Given the description of an element on the screen output the (x, y) to click on. 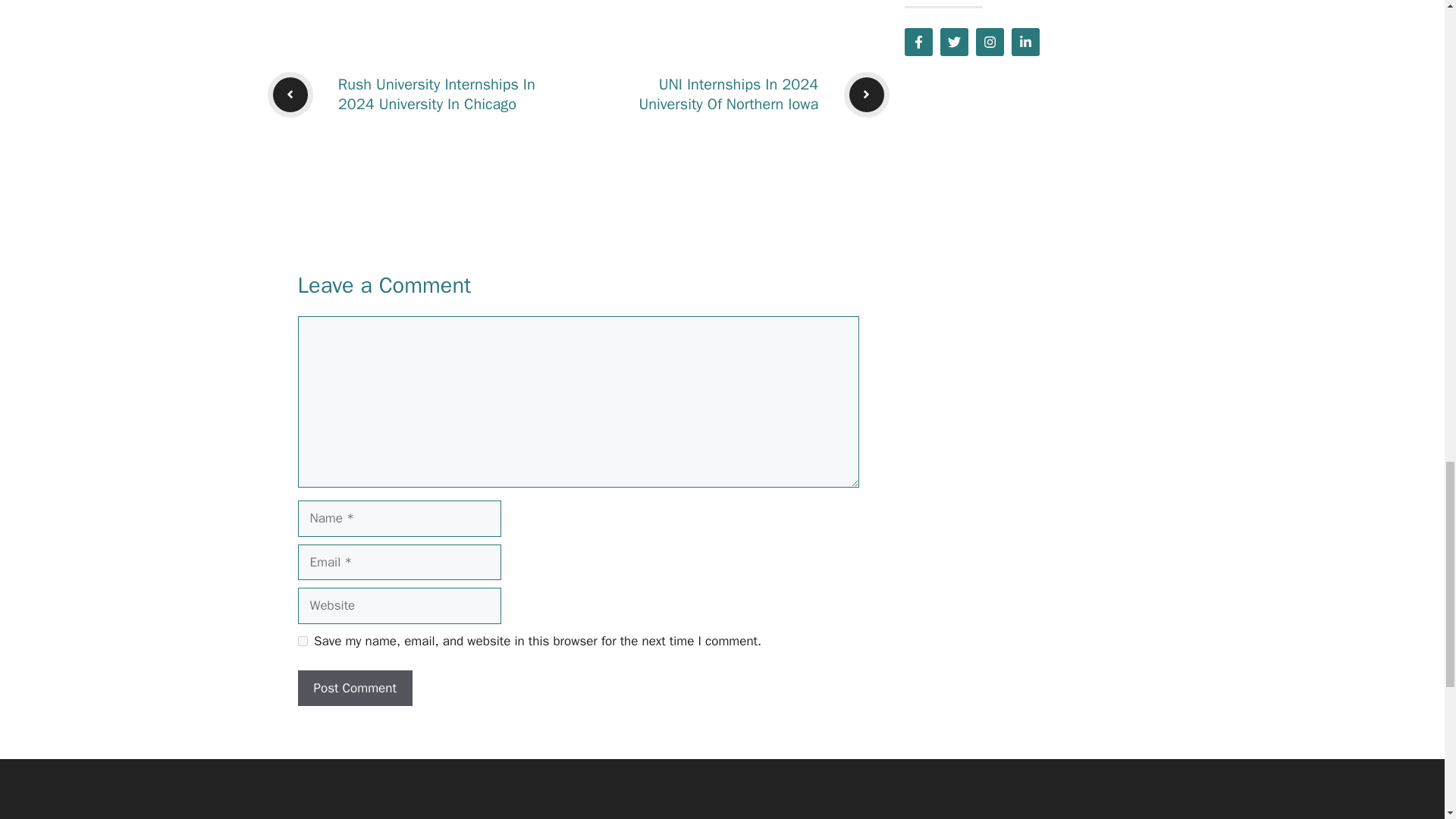
Post Comment (354, 688)
Rush University Internships In 2024 University In Chicago (436, 94)
yes (302, 641)
Post Comment (354, 688)
UNI Internships In 2024 University Of Northern Iowa (728, 94)
